Given the description of an element on the screen output the (x, y) to click on. 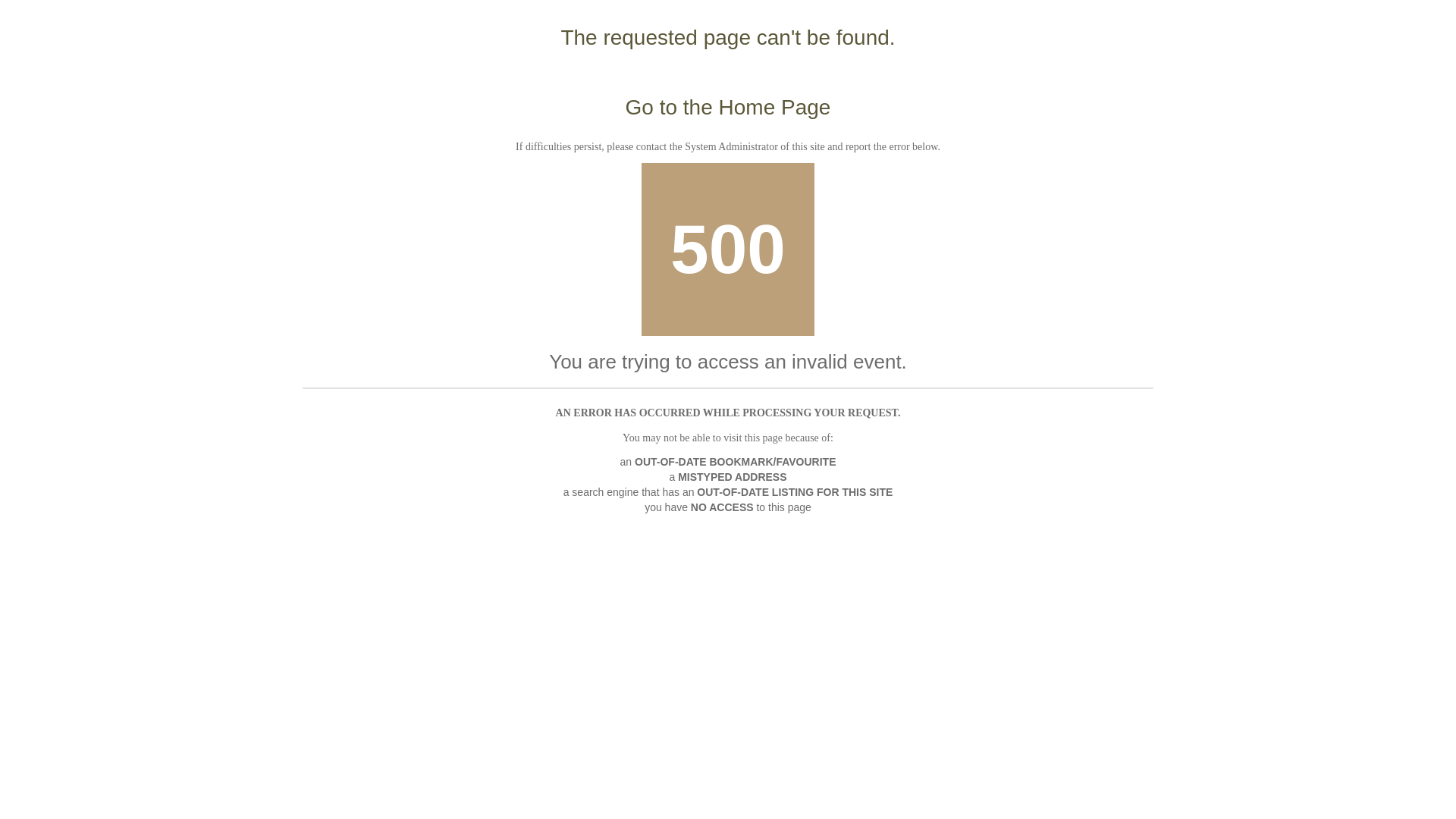
Go to the Home Page Element type: text (728, 107)
